Given the description of an element on the screen output the (x, y) to click on. 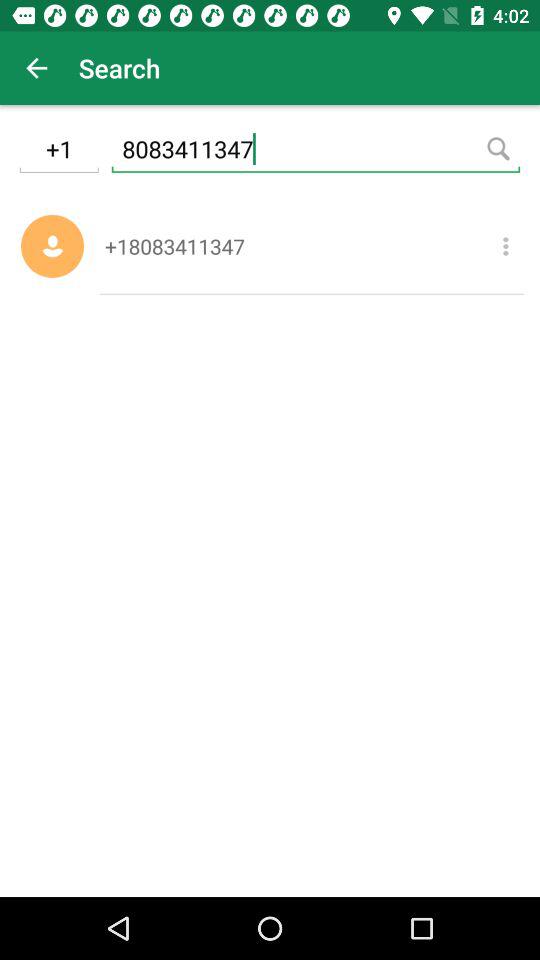
additional options (505, 246)
